Given the description of an element on the screen output the (x, y) to click on. 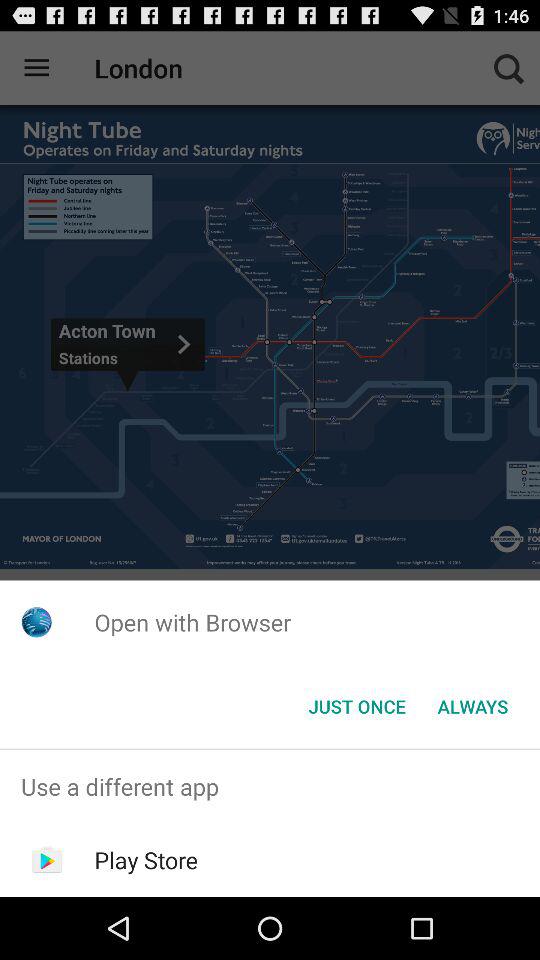
open button to the left of the always icon (356, 706)
